Given the description of an element on the screen output the (x, y) to click on. 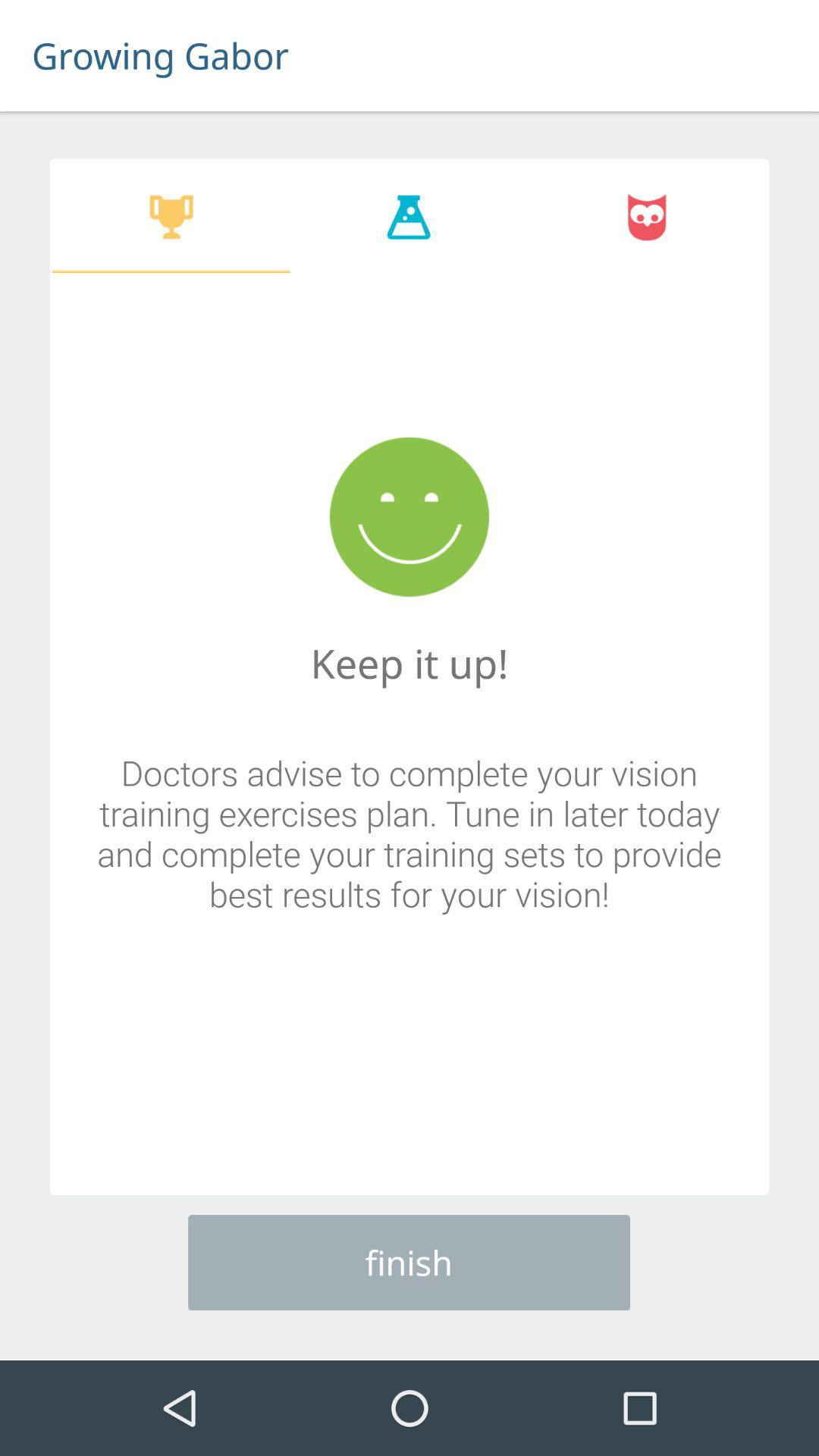
press finish (409, 1262)
